Given the description of an element on the screen output the (x, y) to click on. 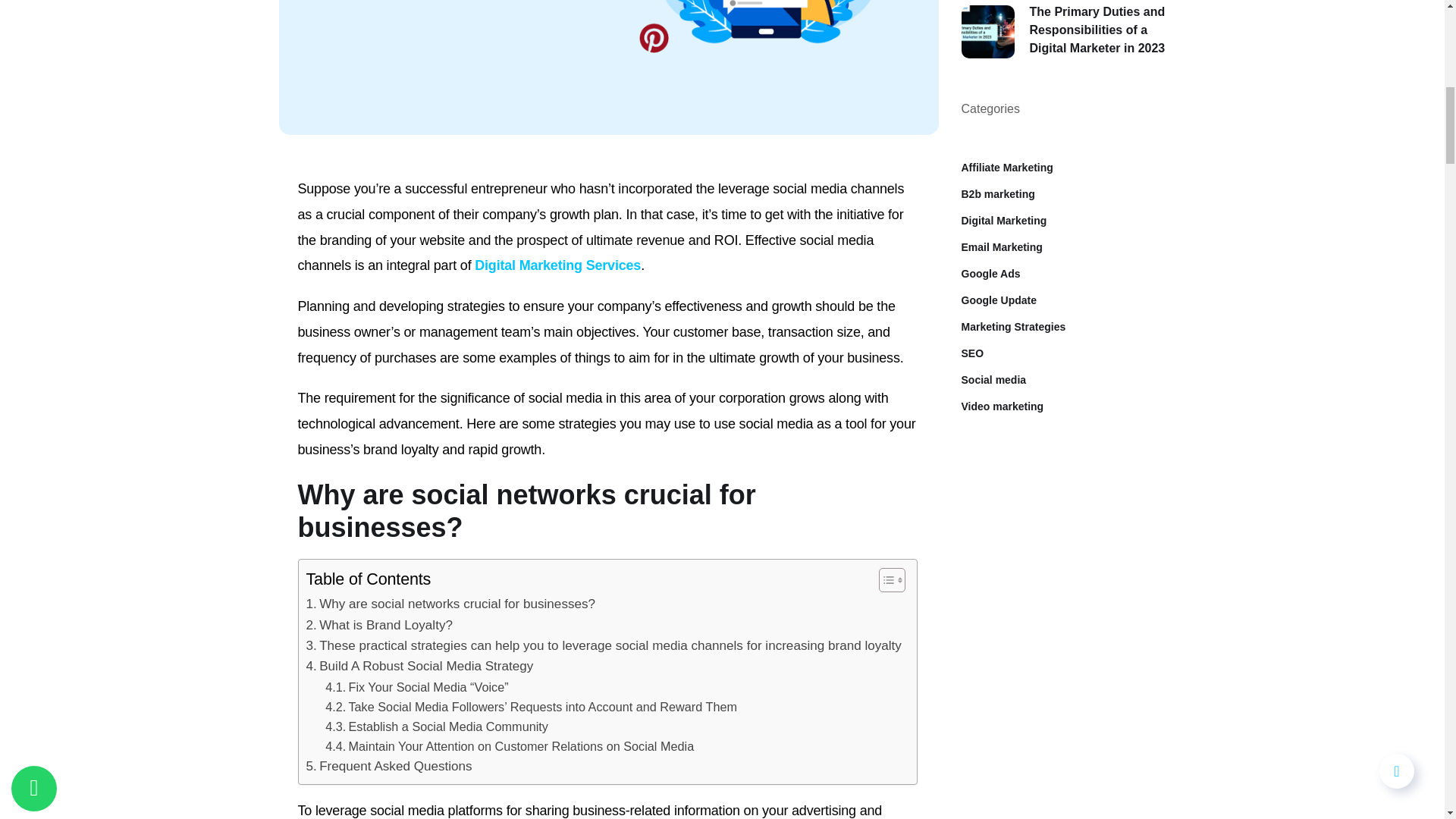
What is Brand Loyalty? (378, 625)
Frequent Asked Questions (388, 765)
Build A Robust Social Media Strategy (419, 666)
Why are social networks crucial for businesses? (450, 603)
Establish a Social Media Community (436, 726)
